Given the description of an element on the screen output the (x, y) to click on. 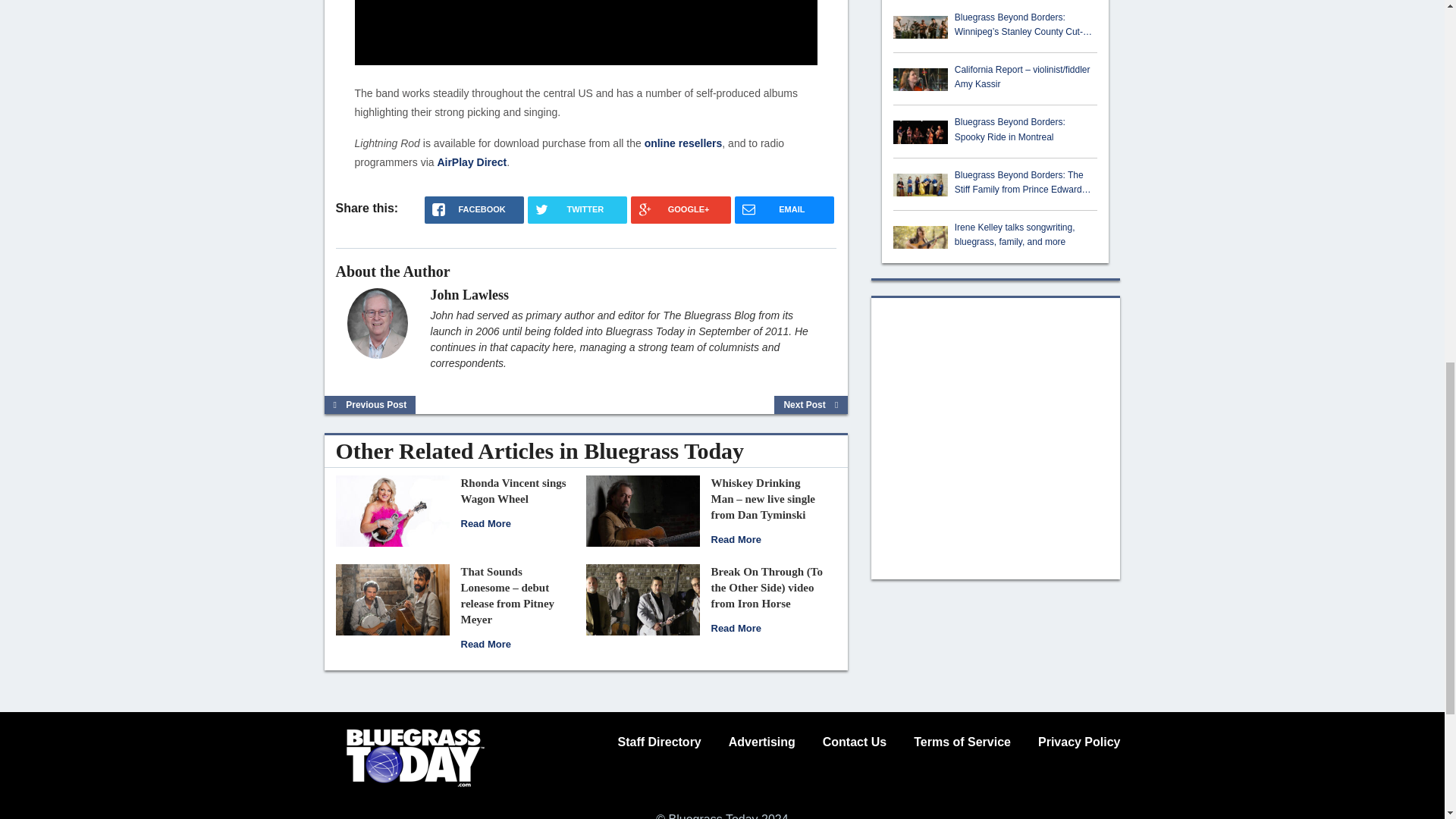
Rhonda Vincent sings Wagon Wheel (391, 509)
Rhonda Vincent sings Wagon Wheel (513, 490)
Rhonda Vincent sings Wagon Wheel (486, 523)
